Given the description of an element on the screen output the (x, y) to click on. 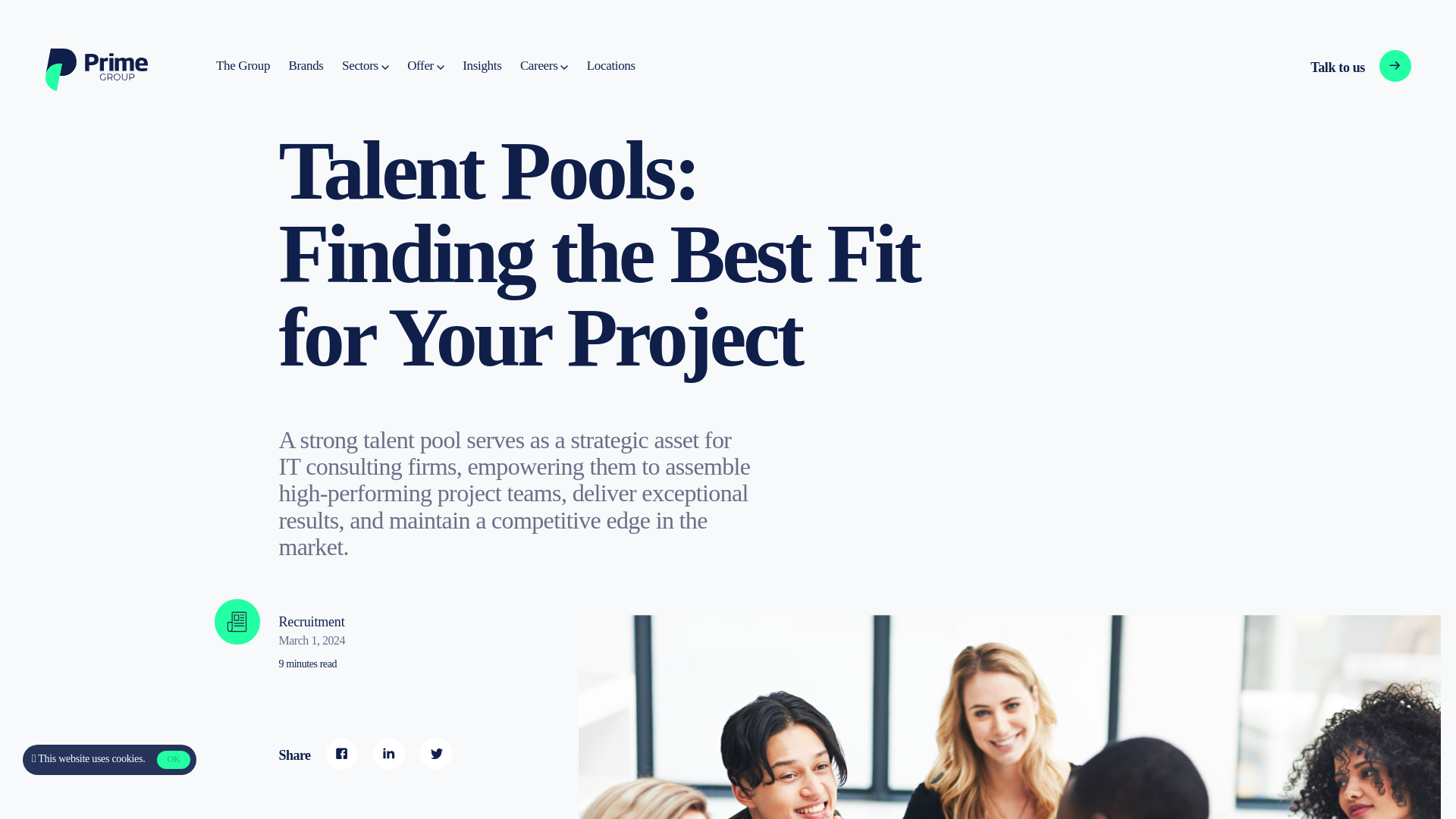
Locations (1334, 67)
Careers (610, 66)
The Group (543, 66)
Brands (242, 66)
Offer (305, 66)
Insights (425, 66)
OK (481, 66)
Sectors (173, 760)
uses cookies. (365, 66)
